Given the description of an element on the screen output the (x, y) to click on. 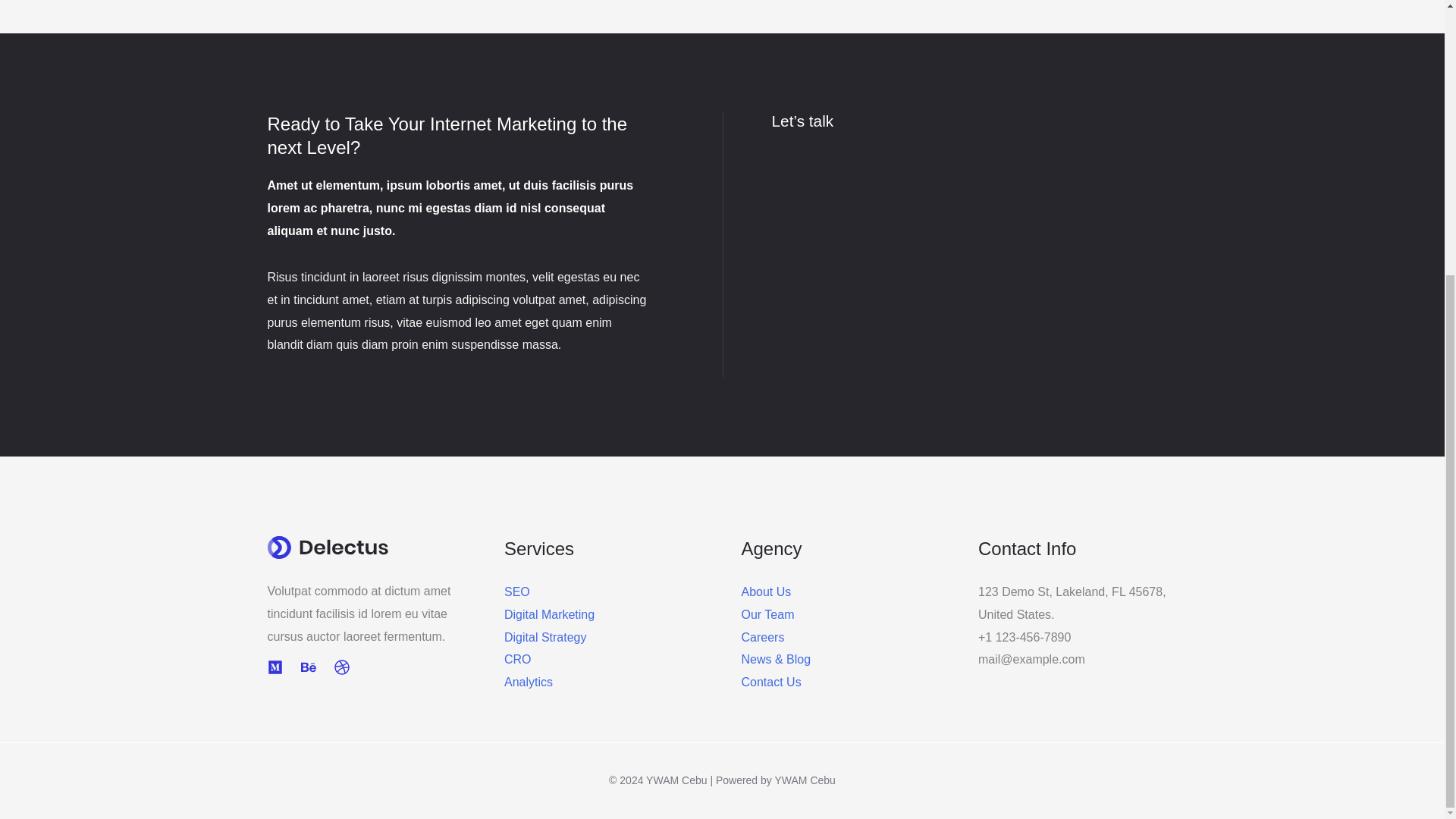
Digital Strategy (544, 636)
SEO (516, 591)
Our Team (767, 614)
About Us (766, 591)
CRO (517, 658)
Analytics (528, 681)
Digital Marketing (548, 614)
